Given the description of an element on the screen output the (x, y) to click on. 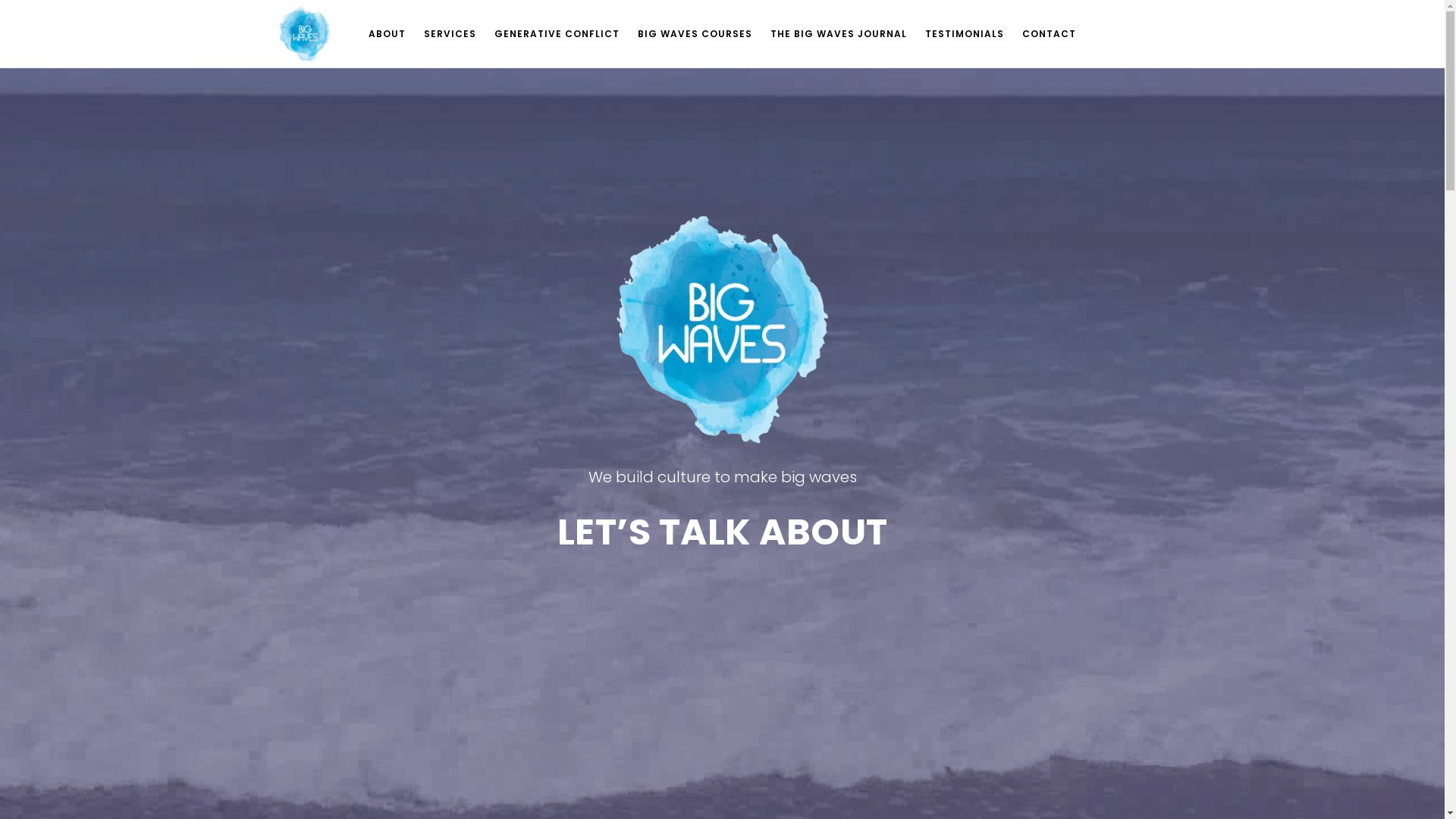
SERVICES Element type: text (449, 34)
THE BIG WAVES JOURNAL Element type: text (838, 34)
GENERATIVE CONFLICT Element type: text (556, 34)
CONTACT Element type: text (1049, 34)
BIG WAVES COURSES Element type: text (694, 34)
ABOUT Element type: text (386, 34)
TESTIMONIALS Element type: text (964, 34)
